Given the description of an element on the screen output the (x, y) to click on. 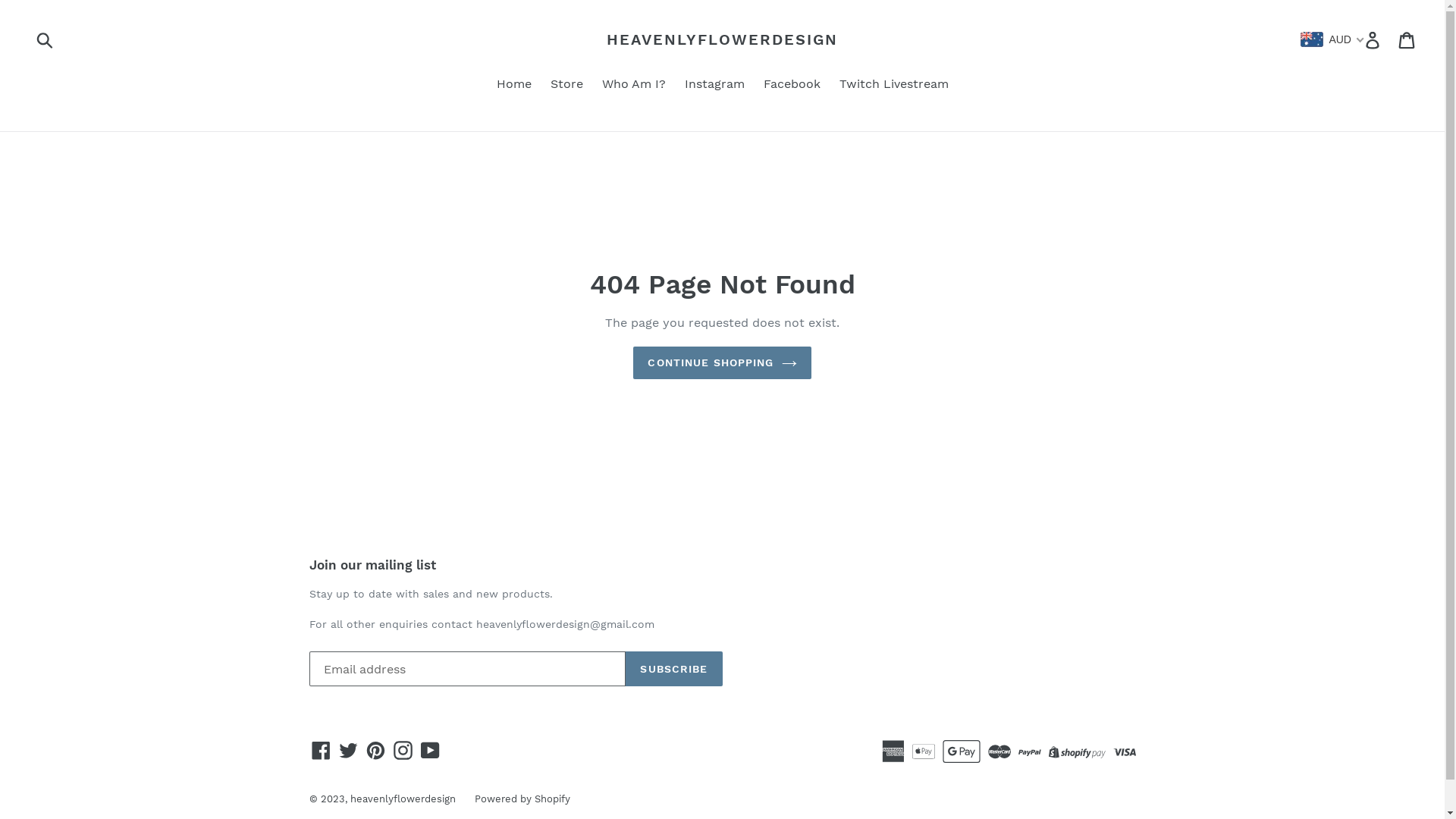
HEAVENLYFLOWERDESIGN Element type: text (721, 39)
Twitter Element type: text (348, 750)
Instagram Element type: text (402, 750)
Pinterest Element type: text (375, 750)
Submit Element type: text (45, 39)
heavenlyflowerdesign Element type: text (402, 798)
Facebook Element type: text (791, 85)
Store Element type: text (566, 85)
Log in Element type: text (1373, 39)
Instagram Element type: text (713, 85)
Cart Element type: text (1407, 39)
YouTube Element type: text (430, 750)
CONTINUE SHOPPING Element type: text (721, 362)
Twitch Livestream Element type: text (893, 85)
Home Element type: text (513, 85)
SUBSCRIBE Element type: text (673, 668)
Facebook Element type: text (320, 750)
Powered by Shopify Element type: text (522, 798)
Who Am I? Element type: text (633, 85)
